Given the description of an element on the screen output the (x, y) to click on. 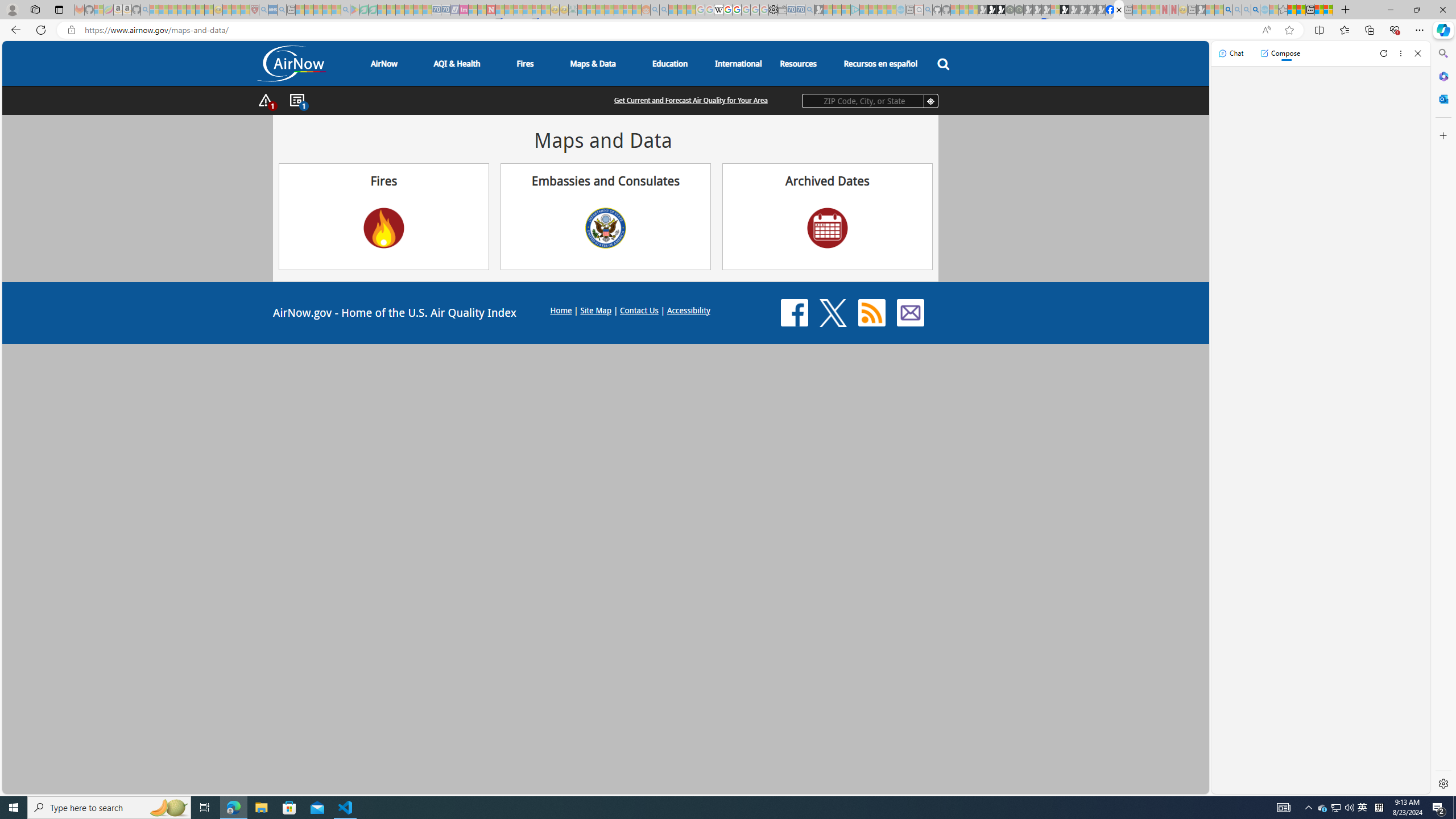
Maps and Data | AirNow.gov (1118, 9)
Target page - Wikipedia (718, 9)
Facebook (794, 312)
Air Now Logo (290, 63)
